Given the description of an element on the screen output the (x, y) to click on. 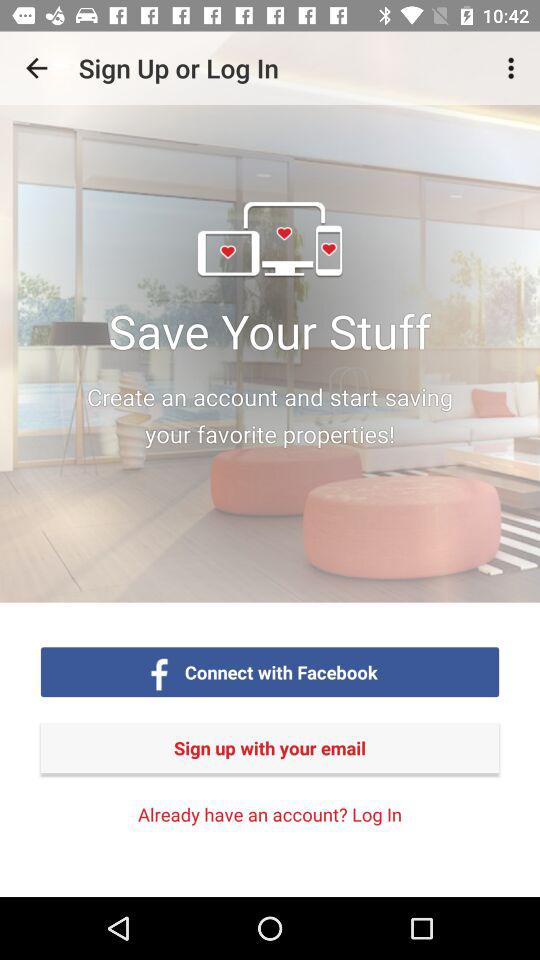
turn off app to the left of sign up or app (36, 68)
